Given the description of an element on the screen output the (x, y) to click on. 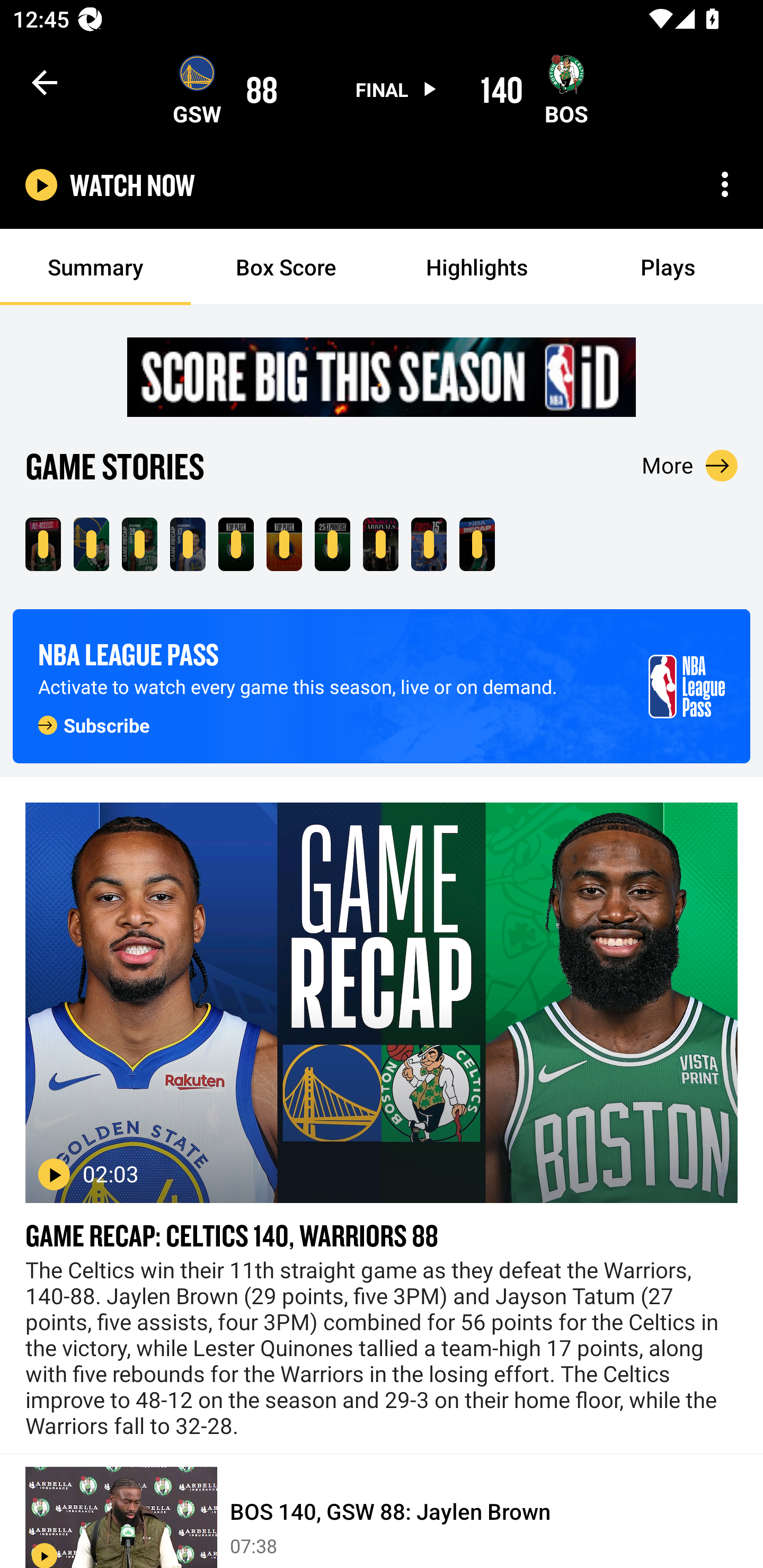
Navigate up (44, 82)
More options (724, 183)
WATCH NOW (132, 184)
Box Score (285, 266)
Highlights (476, 266)
Plays (667, 266)
More (689, 465)
Warriors And Celtics Clash At TD Garden 🍀 NEW (43, 543)
BOS 140, GSW 88 - Mar 3 NEW (91, 543)
Highlights From Jaylen Brown's 29-Point Game NEW (139, 543)
Highlights From Lester Quinones' 17-Point Game NEW (187, 543)
BOS' Top Plays from GSW vs. BOS NEW (236, 543)
GSW's Top Plays from GSW vs. BOS NEW (284, 543)
All 3-pointers from BOS' 25 3-pointer Night NEW (332, 543)
Steppin' Into Sunday 🔥 NEW (380, 543)
First To 15, Mar. 3rd NEW (428, 543)
Sunday's Recap NEW (477, 543)
BOS 140, GSW 88: Jaylen Brown 07:38 (381, 1510)
